Given the description of an element on the screen output the (x, y) to click on. 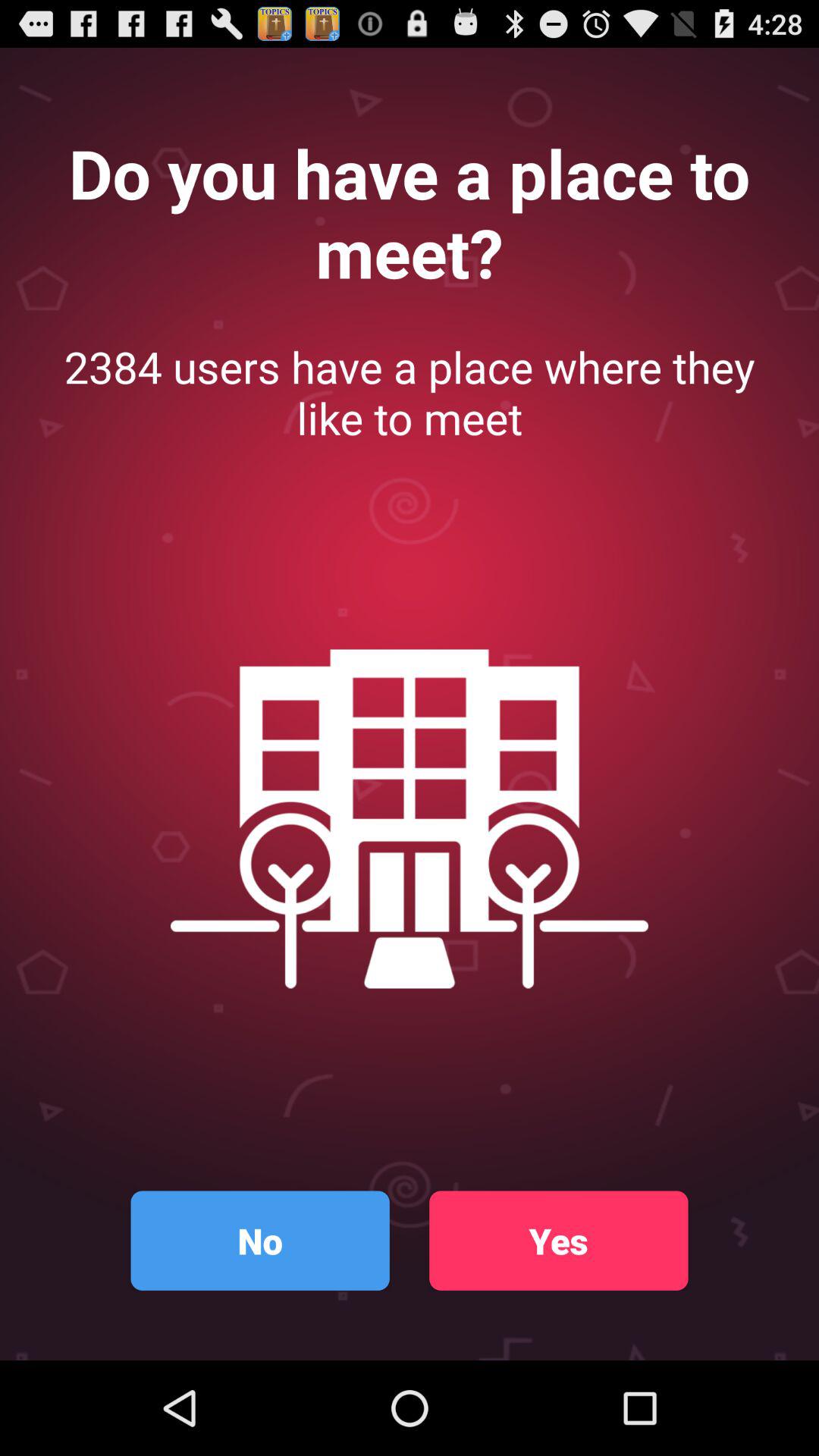
turn off no item (259, 1240)
